Given the description of an element on the screen output the (x, y) to click on. 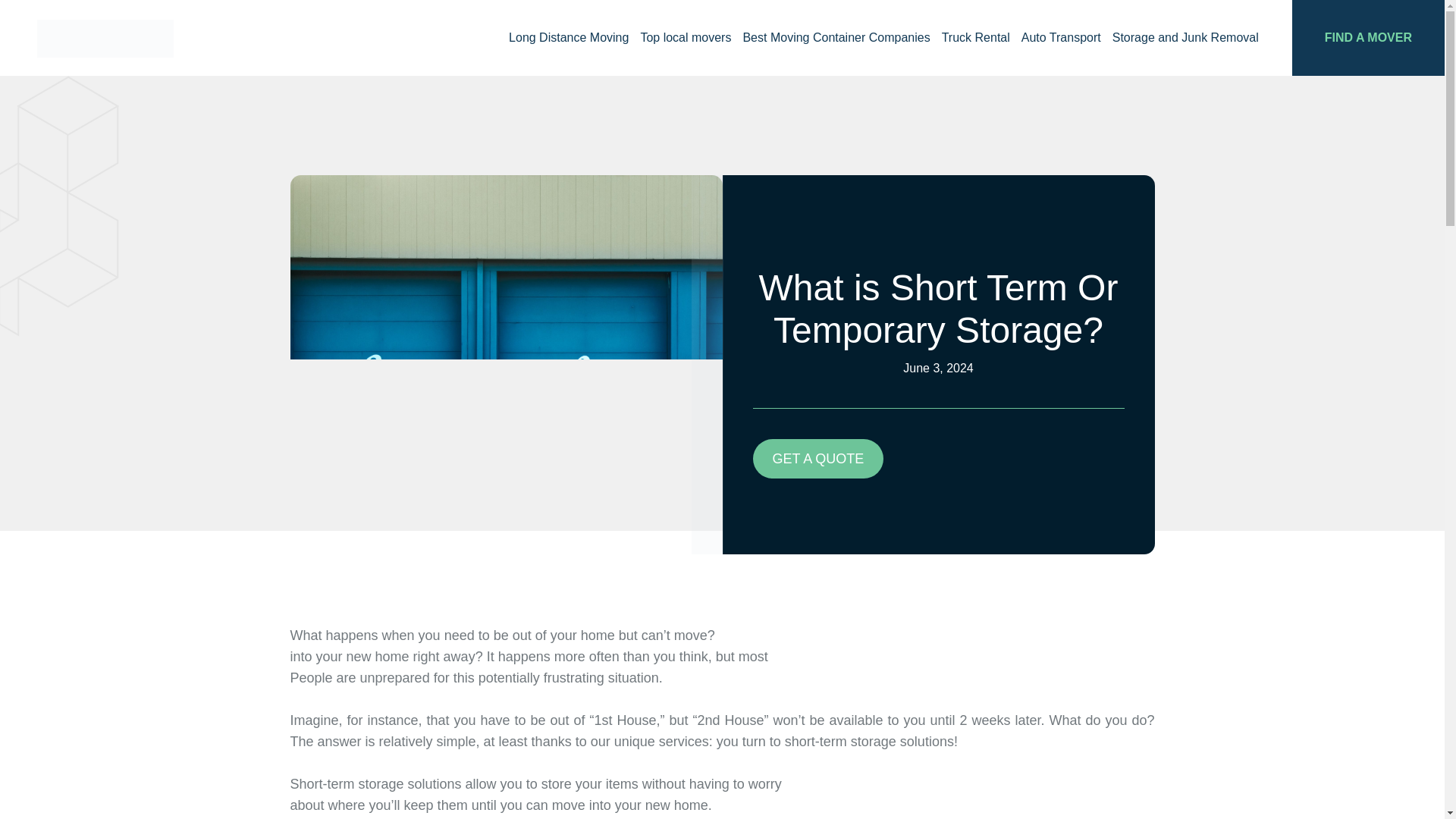
Top local movers (691, 38)
Long Distance Moving (574, 38)
Best Moving Container Companies (841, 38)
Storage and Junk Removal (1190, 38)
Truck Rental (982, 38)
Auto Transport (1067, 38)
